Given the description of an element on the screen output the (x, y) to click on. 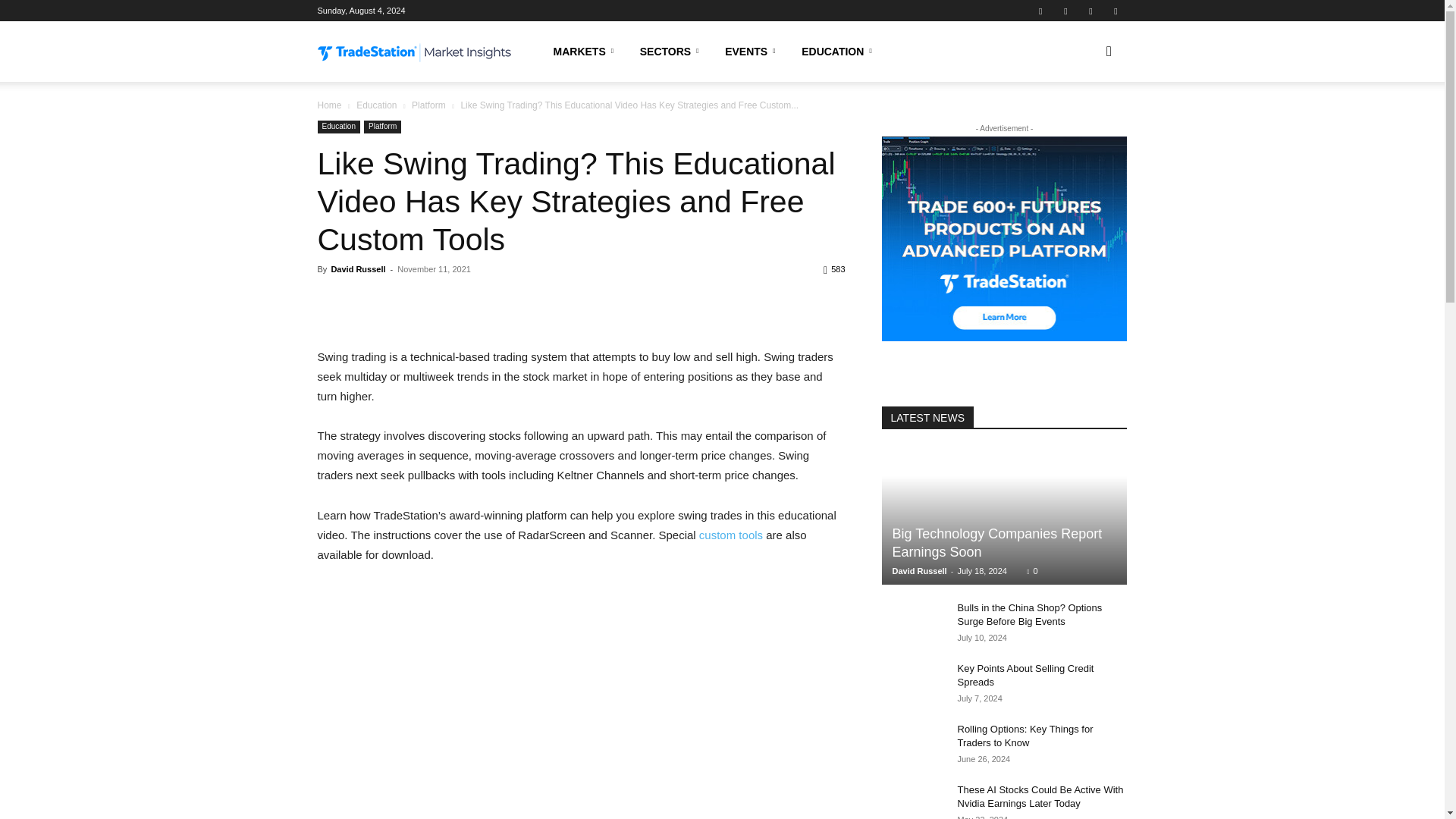
TradeStation Market Insights (414, 52)
Linkedin (1065, 10)
Facebook (1040, 10)
Youtube (1114, 10)
Twitter (1090, 10)
